Given the description of an element on the screen output the (x, y) to click on. 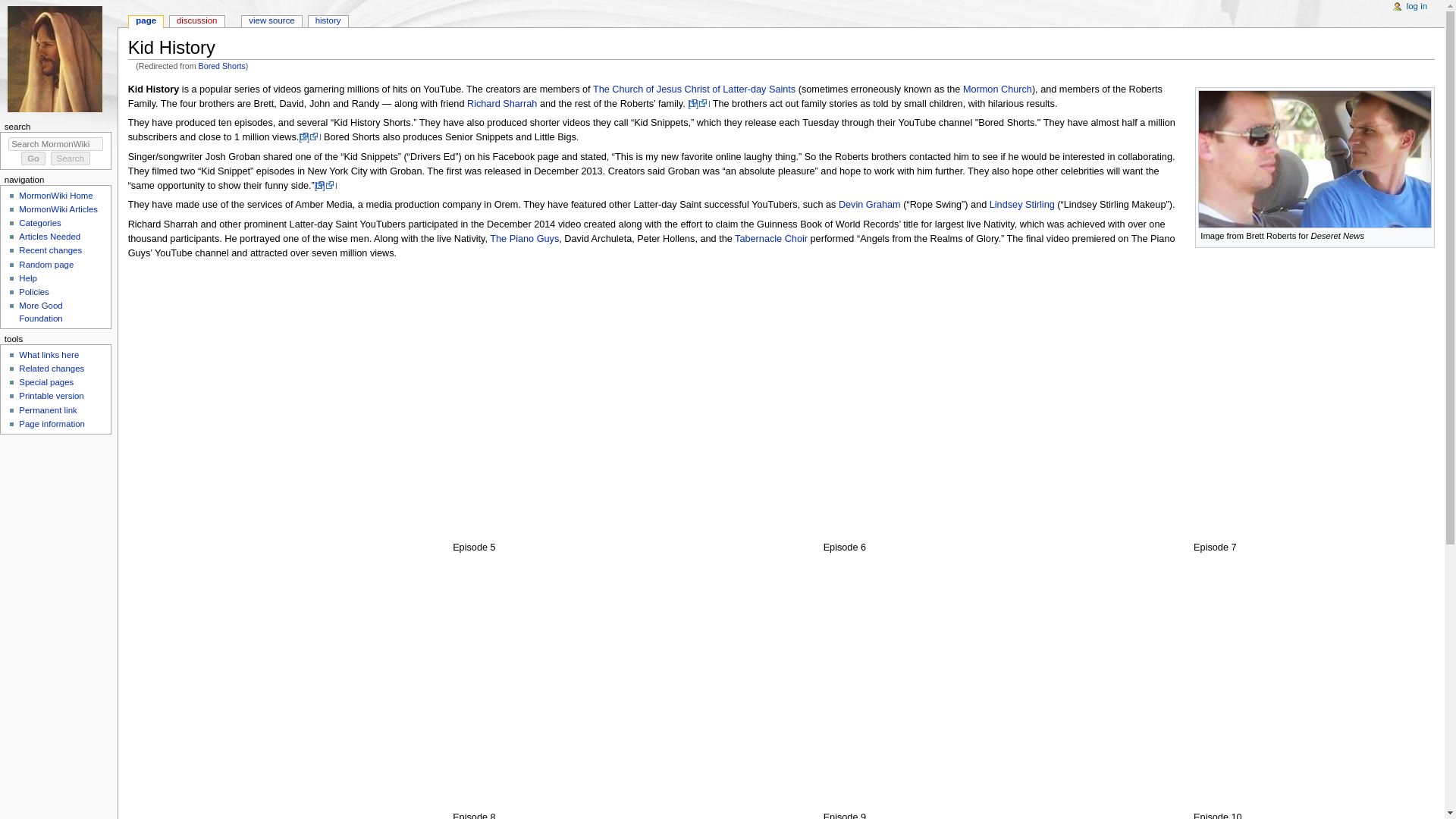
More Good Foundation (40, 311)
The Piano Guys (524, 238)
Bored Shorts (222, 65)
Go (33, 158)
log in (1416, 6)
Help (27, 277)
Go to a page with this exact name if it exists (33, 158)
history (327, 21)
Mormon Church (997, 89)
Richard Sharrah (502, 103)
